Given the description of an element on the screen output the (x, y) to click on. 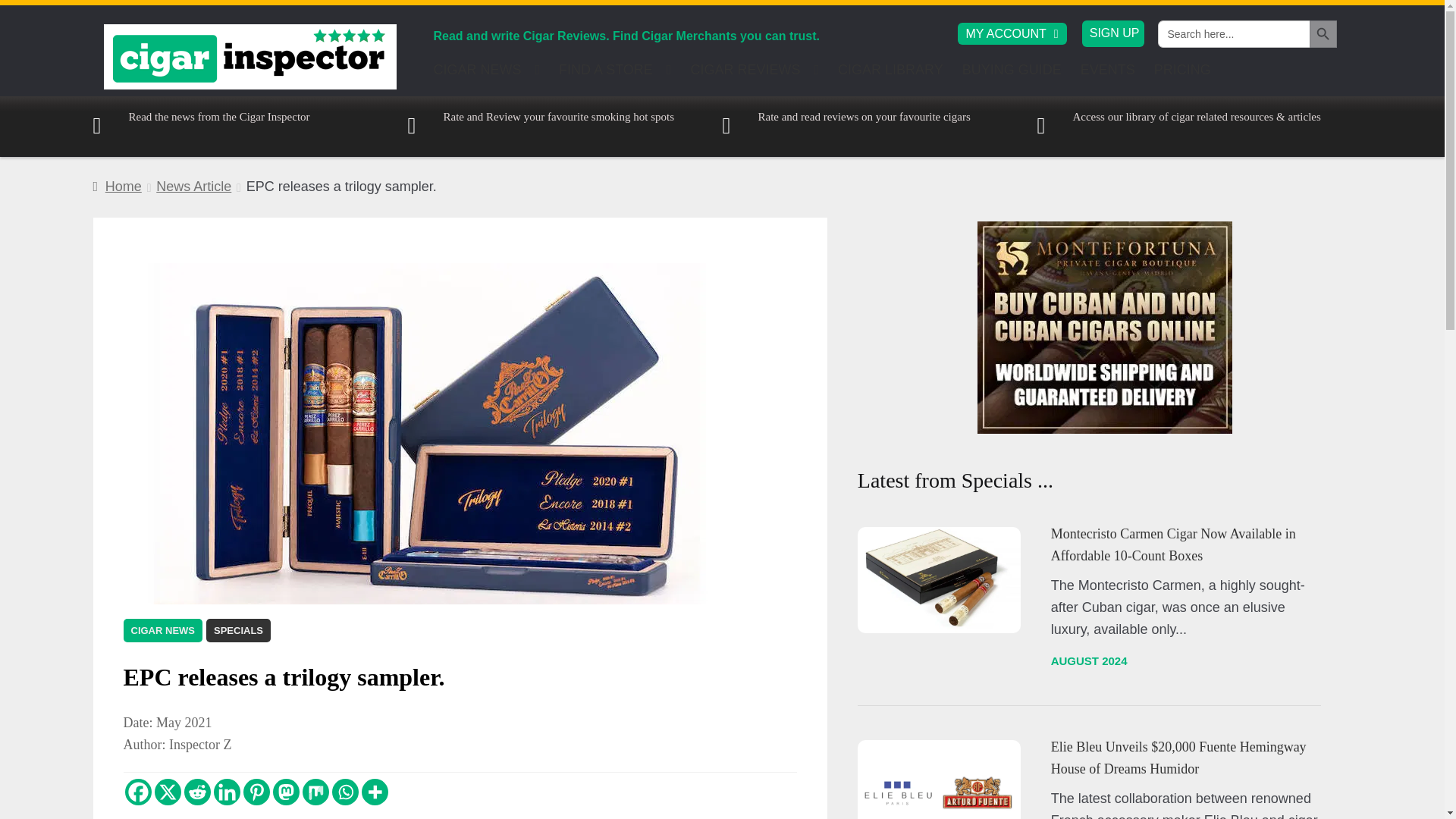
More (374, 791)
Mastodon (286, 791)
EVENTS (1107, 73)
Featured image (938, 779)
SIGN UP (1114, 32)
X (167, 791)
Mix (315, 791)
MY ACCOUNT (1011, 33)
Pinterest (256, 791)
BUYING GUIDE (1011, 73)
